Given the description of an element on the screen output the (x, y) to click on. 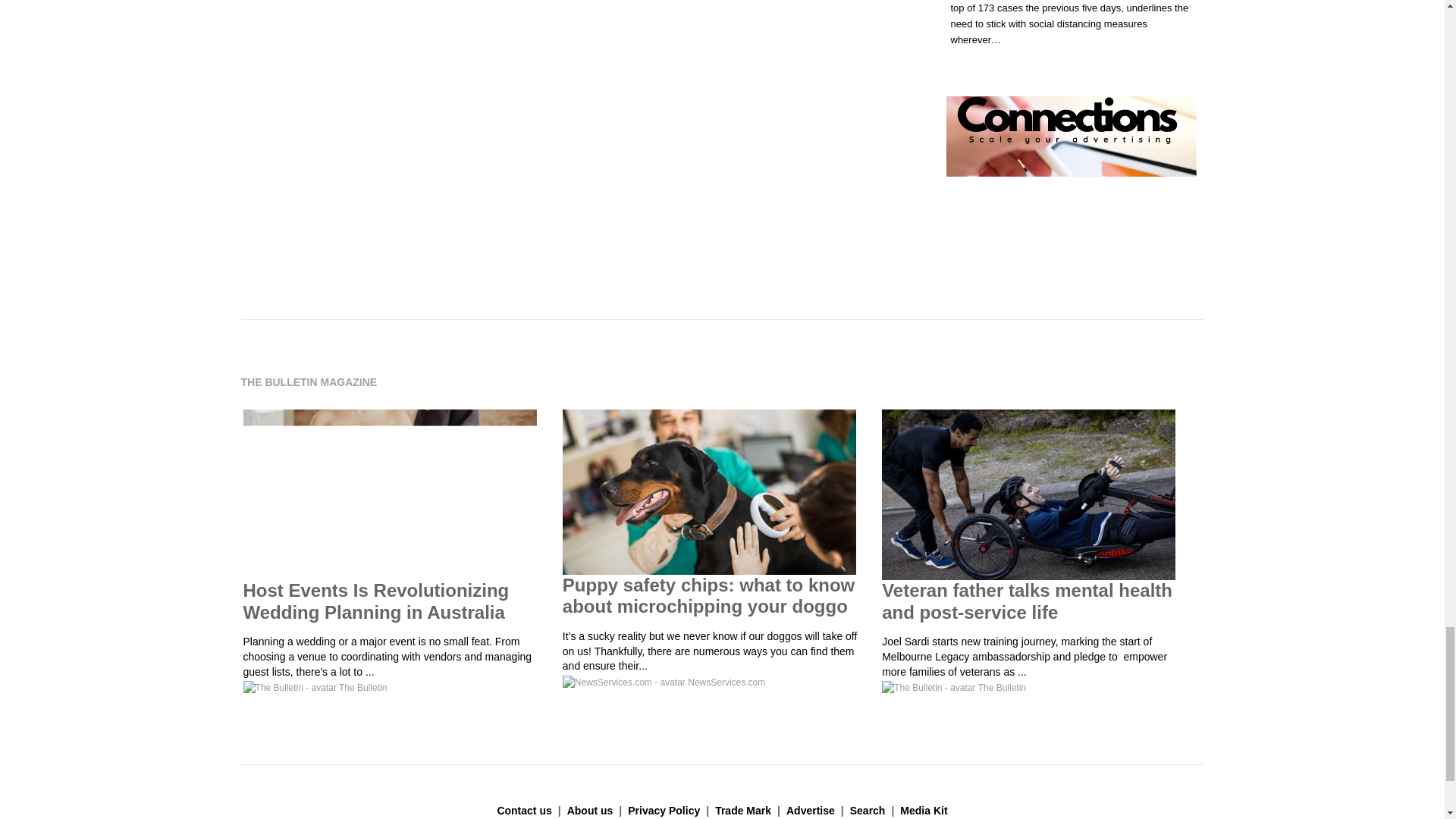
Veteran father talks mental health and post-service life (1027, 600)
Host Events Is Revolutionizing Wedding Planning in Australia (375, 600)
